Given the description of an element on the screen output the (x, y) to click on. 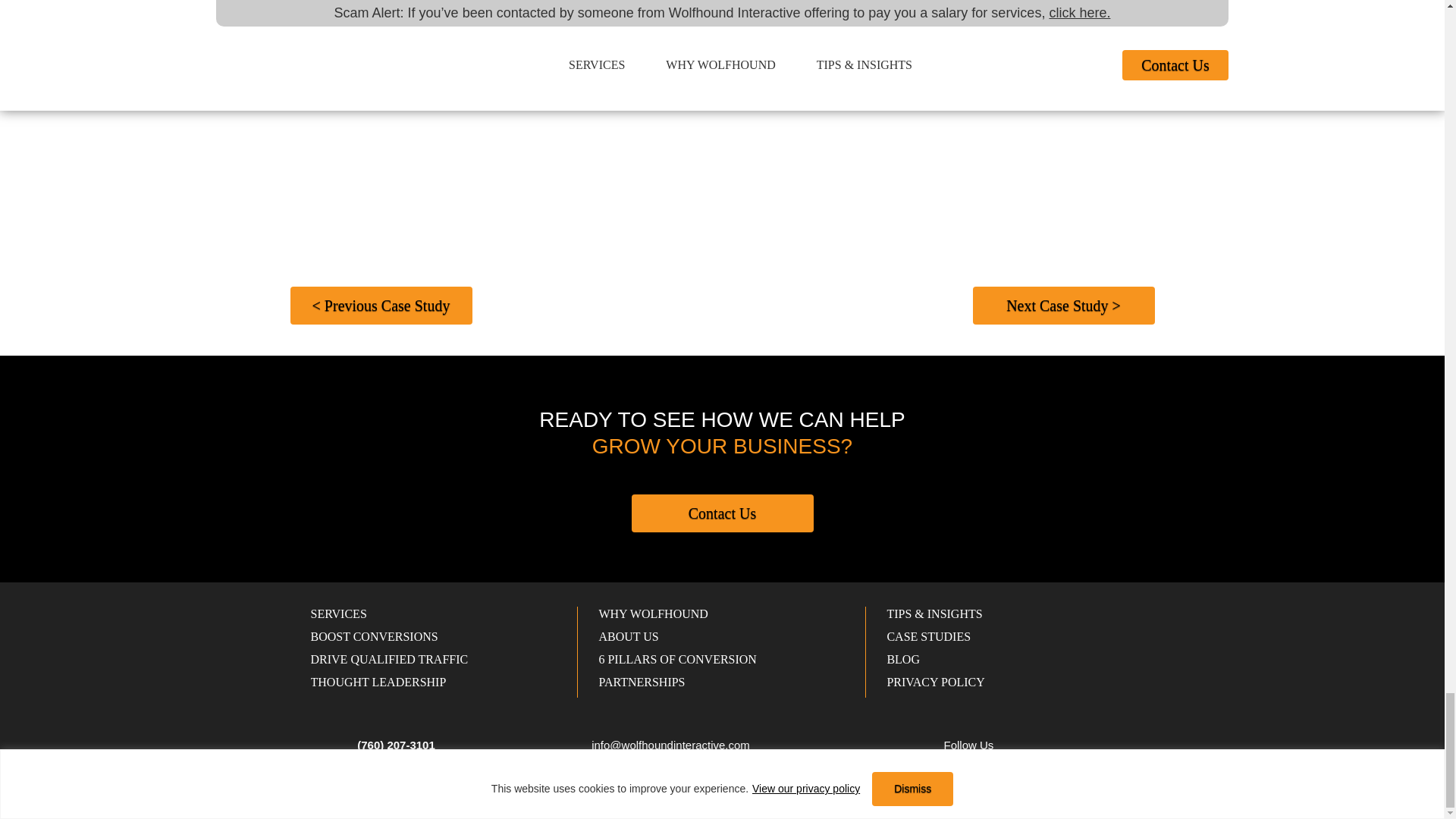
ABOUT US (628, 635)
DRIVE QUALIFIED TRAFFIC (389, 658)
BOOST CONVERSIONS (374, 635)
THOUGHT LEADERSHIP (378, 681)
Contact Us (721, 513)
SERVICES (338, 613)
6 PILLARS OF CONVERSION (676, 658)
PARTNERSHIPS (641, 681)
WHY WOLFHOUND (652, 613)
